Given the description of an element on the screen output the (x, y) to click on. 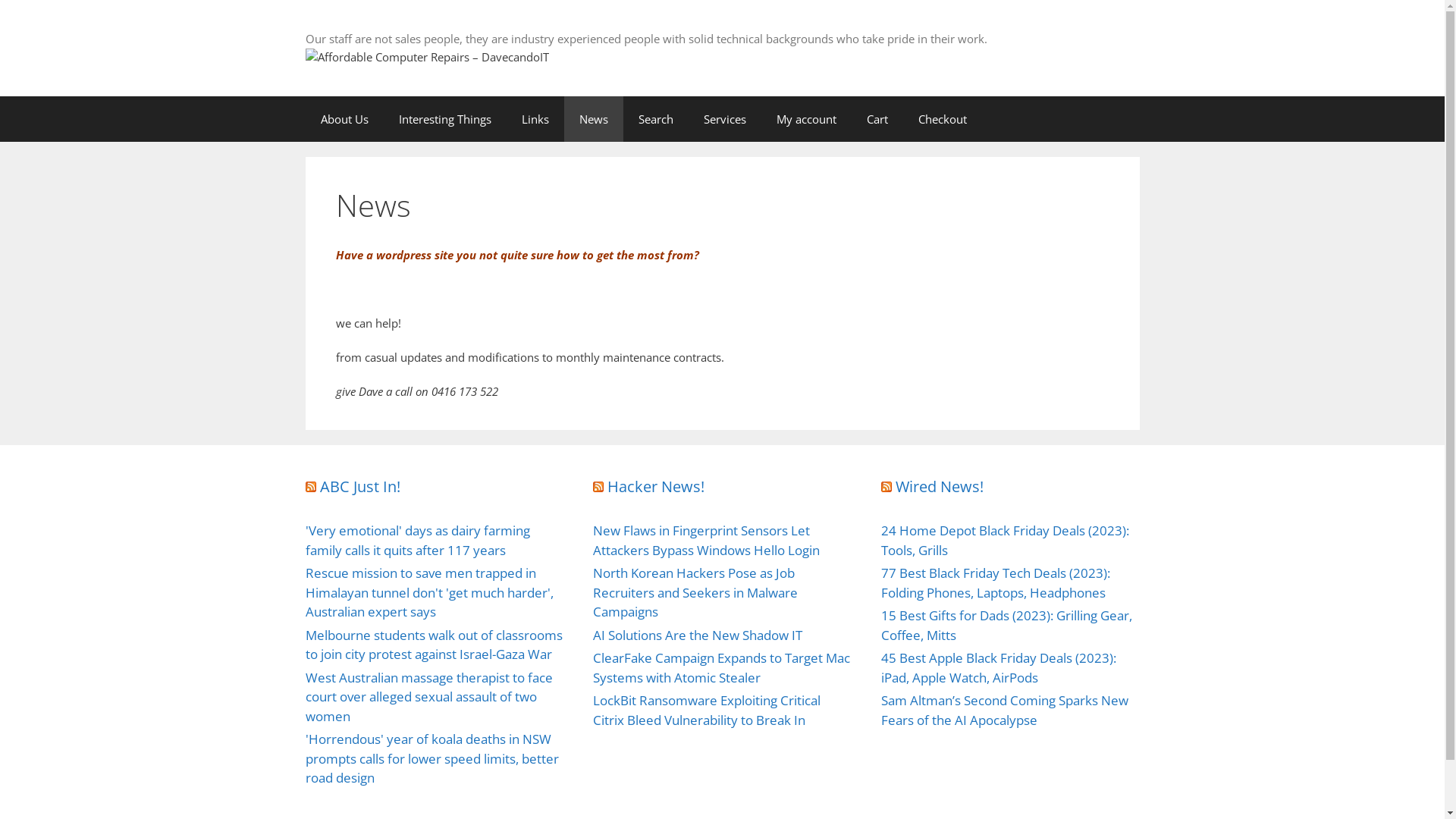
Checkout Element type: text (941, 118)
About Us Element type: text (343, 118)
Links Element type: text (535, 118)
Cart Element type: text (876, 118)
Interesting Things Element type: text (444, 118)
Search Element type: text (655, 118)
15 Best Gifts for Dads (2023): Grilling Gear, Coffee, Mitts Element type: text (1006, 624)
Services Element type: text (724, 118)
My account Element type: text (806, 118)
News Element type: text (593, 118)
ABC Just In! Element type: text (360, 486)
Hacker News! Element type: text (655, 486)
AI Solutions Are the New Shadow IT Element type: text (697, 634)
Wired News! Element type: text (939, 486)
24 Home Depot Black Friday Deals (2023): Tools, Grills Element type: text (1005, 539)
